Given the description of an element on the screen output the (x, y) to click on. 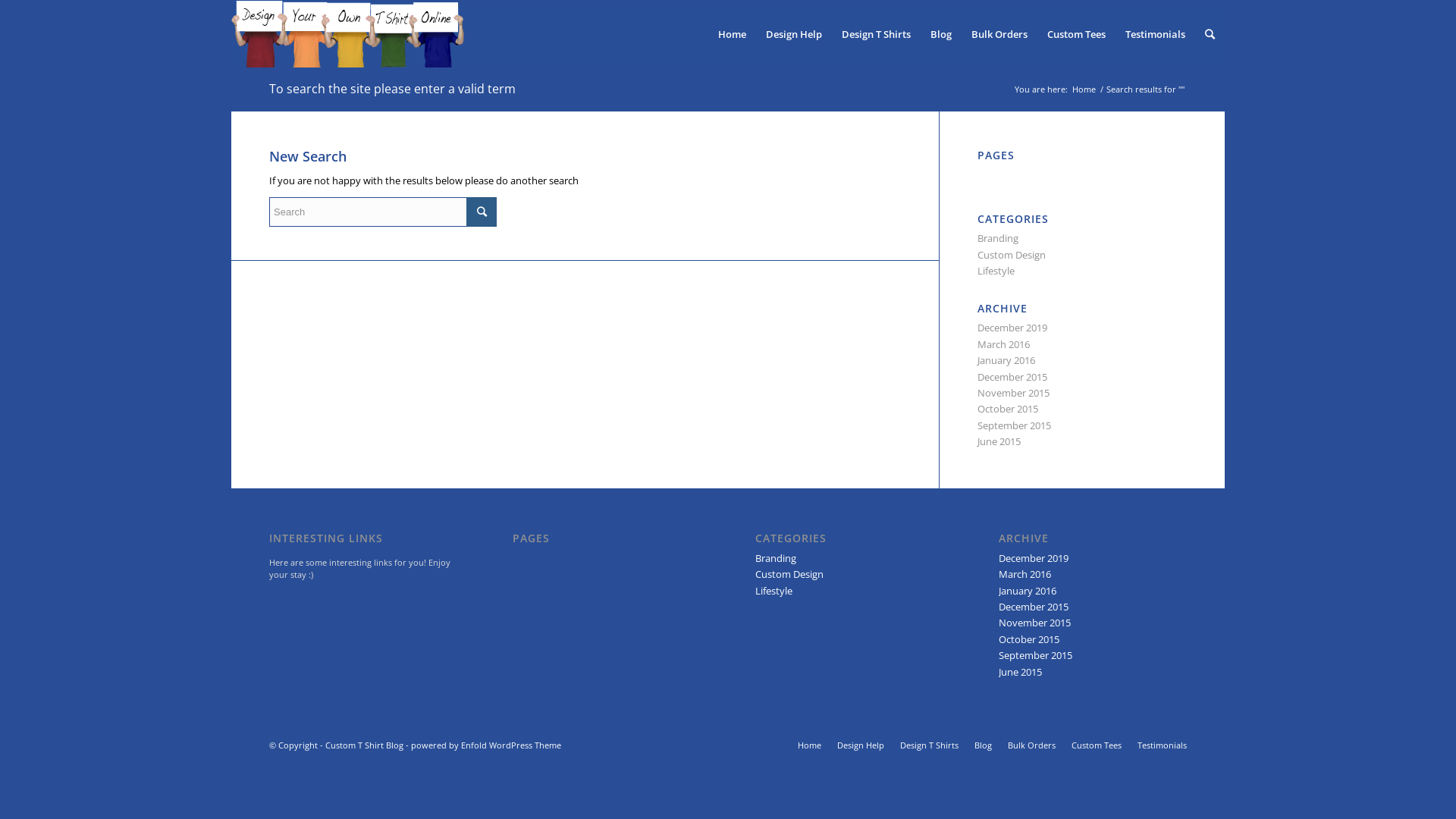
Design T Shirts Element type: text (875, 33)
Custom Design Element type: text (1011, 254)
September 2015 Element type: text (1035, 655)
Testimonials Element type: text (1155, 33)
December 2015 Element type: text (1033, 606)
powered by Enfold WordPress Theme Element type: text (486, 744)
June 2015 Element type: text (1019, 671)
January 2016 Element type: text (1006, 360)
March 2016 Element type: text (1003, 344)
Blog Element type: text (940, 33)
October 2015 Element type: text (1007, 408)
Branding Element type: text (775, 557)
November 2015 Element type: text (1034, 622)
Custom Design Element type: text (789, 573)
December 2019 Element type: text (1012, 327)
Bulk Orders Element type: text (1031, 744)
Branding Element type: text (997, 237)
Bulk Orders Element type: text (999, 33)
Design Help Element type: text (793, 33)
October 2015 Element type: text (1028, 639)
Design Help Element type: text (860, 744)
Home Element type: text (1084, 88)
Design T Shirts Element type: text (929, 744)
January 2016 Element type: text (1027, 590)
December 2019 Element type: text (1033, 557)
Custom Tees Element type: text (1076, 33)
December 2015 Element type: text (1012, 376)
March 2016 Element type: text (1024, 573)
Custom Tees Element type: text (1096, 744)
November 2015 Element type: text (1013, 392)
Testimonials Element type: text (1161, 744)
Home Element type: text (732, 33)
June 2015 Element type: text (998, 441)
Blog Element type: text (982, 744)
Lifestyle Element type: text (773, 590)
September 2015 Element type: text (1014, 425)
Lifestyle Element type: text (995, 270)
Custom T Shirt Blog Element type: text (364, 744)
Home Element type: text (809, 744)
